Given the description of an element on the screen output the (x, y) to click on. 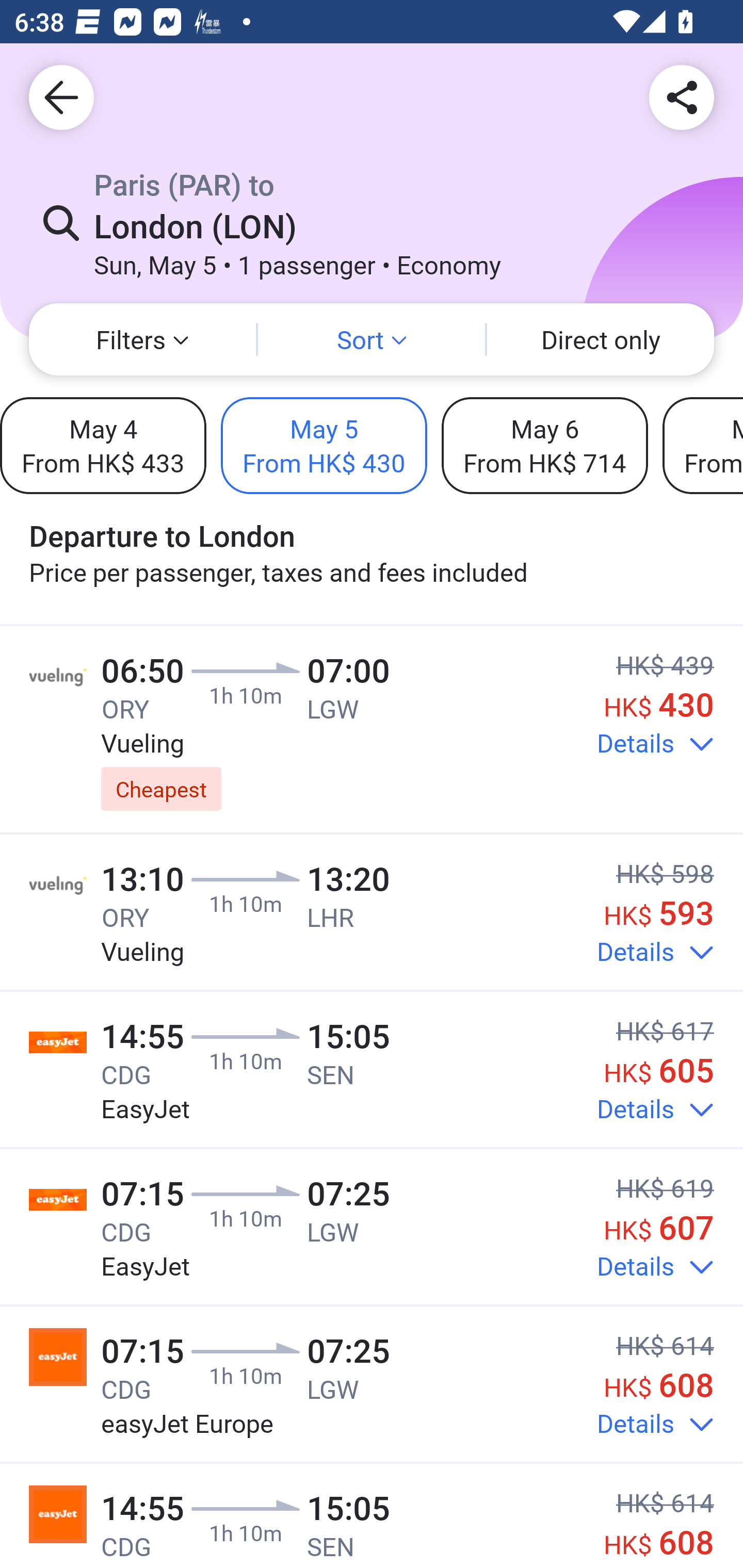
Filters (141, 339)
Sort (371, 339)
Direct only (600, 339)
May 4 From HK$ 433 (103, 444)
May 5 From HK$ 430 (323, 444)
May 6 From HK$ 714 (544, 444)
